Given the description of an element on the screen output the (x, y) to click on. 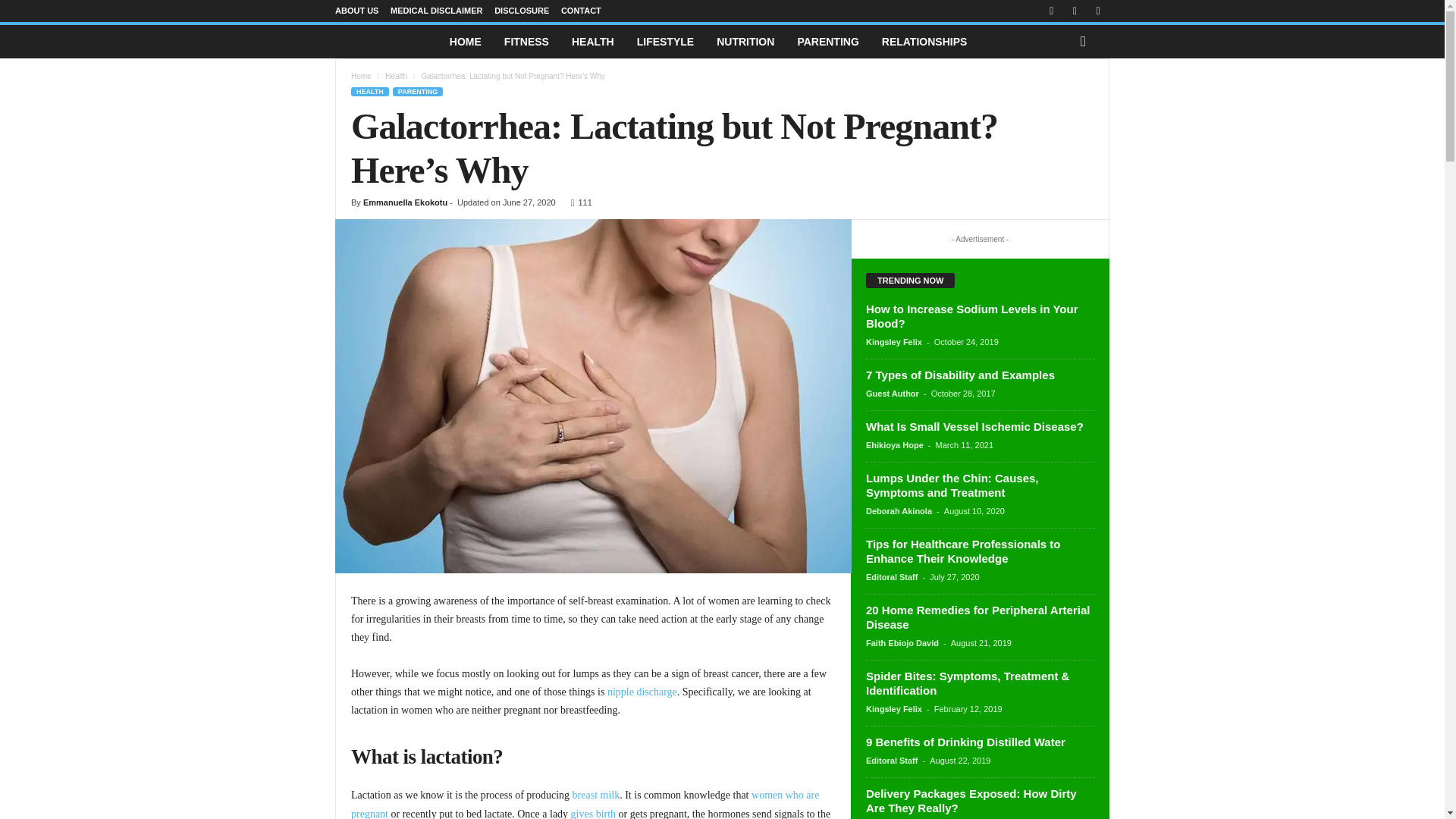
Linkedin (1051, 11)
PARENTING (827, 41)
nipple discharge (642, 691)
Twitter (1097, 11)
gives birth (592, 813)
ABOUT US (356, 10)
Emmanuella Ekokotu (404, 202)
FITNESS (526, 41)
breast milk (596, 794)
NUTRITION (745, 41)
Pinterest (1074, 11)
View all posts in Health (396, 76)
